Given the description of an element on the screen output the (x, y) to click on. 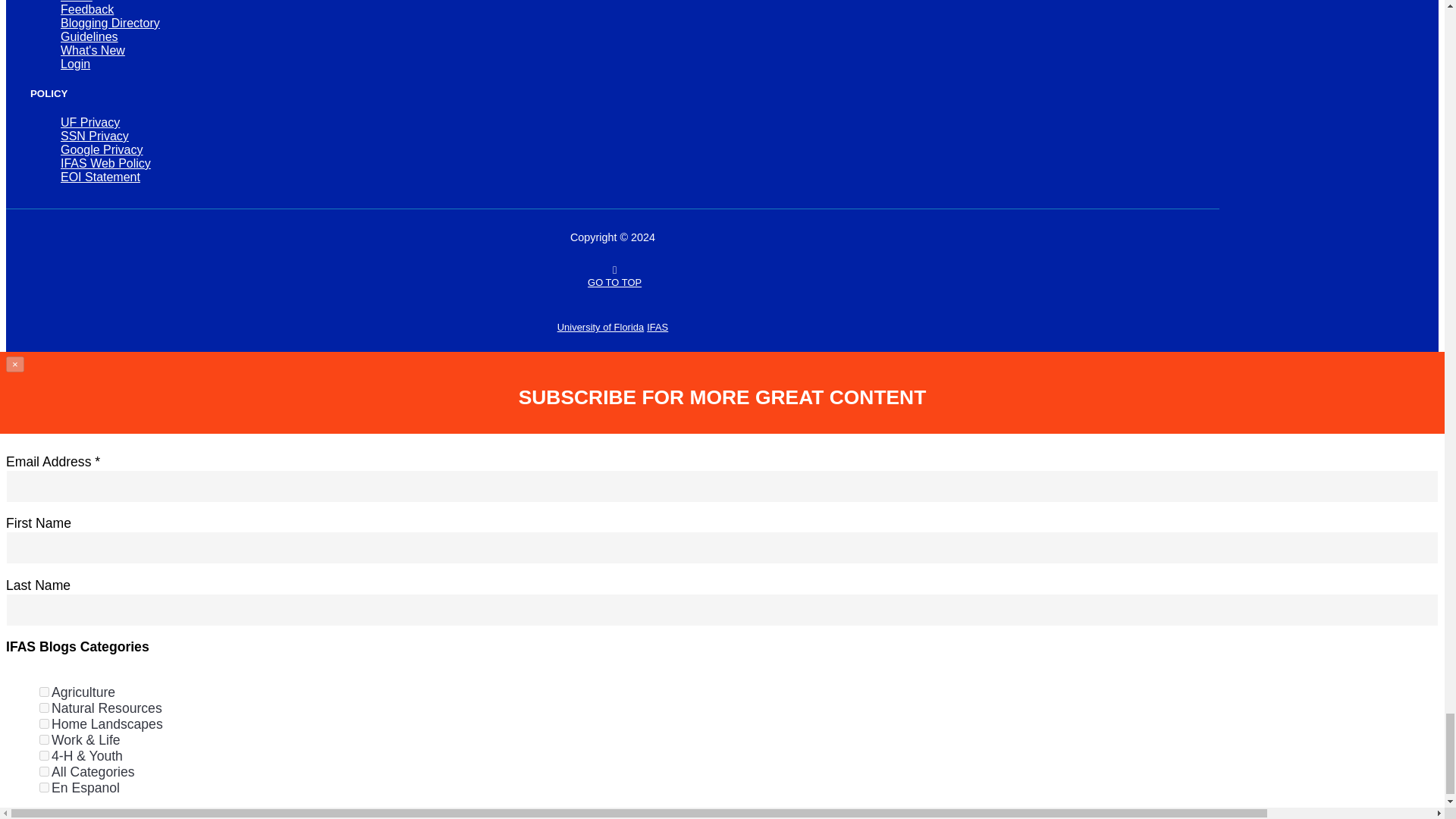
64 (44, 787)
16 (44, 755)
2 (44, 707)
8 (44, 739)
4 (44, 723)
32 (44, 771)
1 (44, 691)
